Given the description of an element on the screen output the (x, y) to click on. 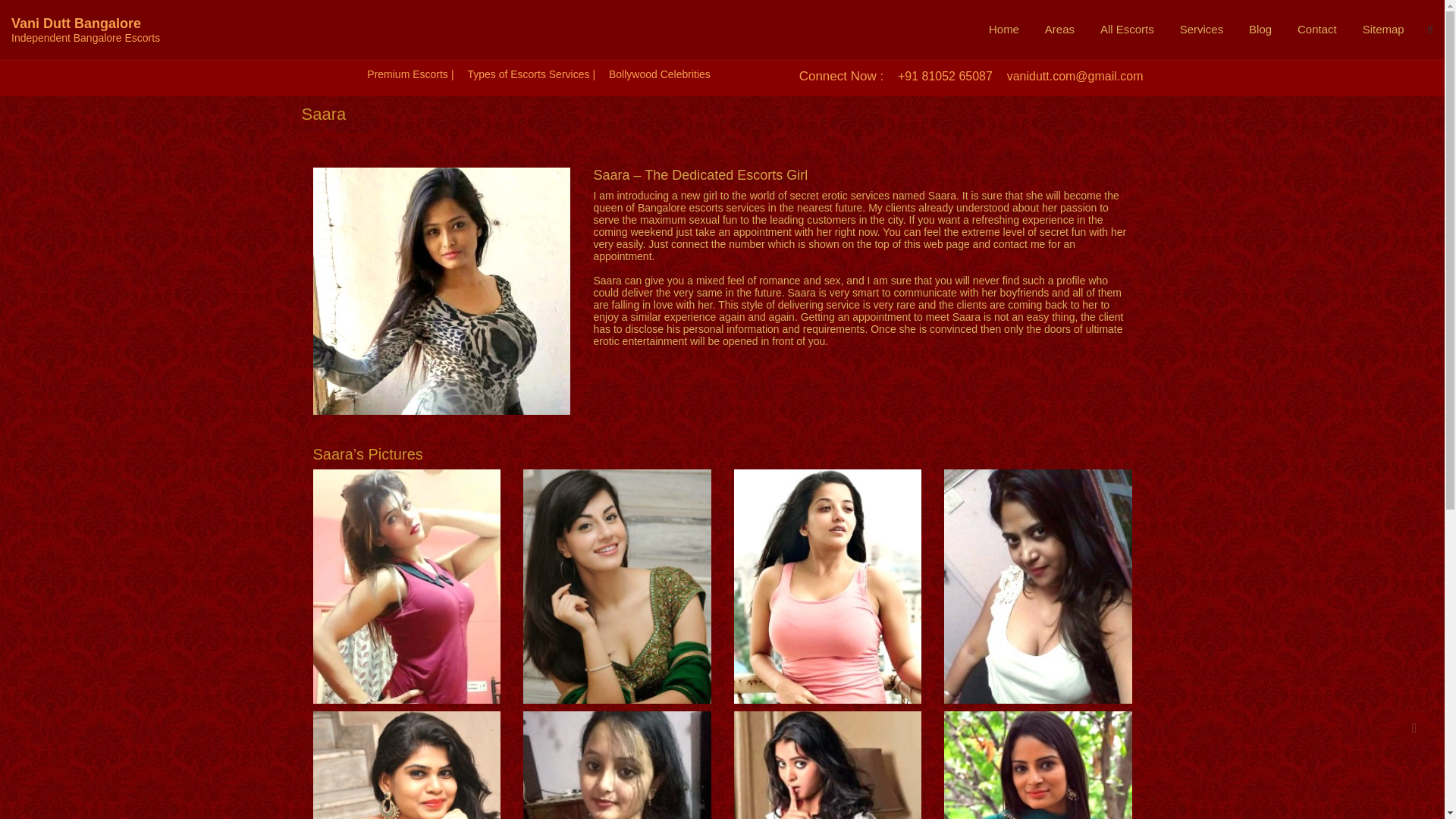
Types of Escorts Services (528, 73)
Premium Escorts (407, 73)
Vani Dutt Bangalore (76, 22)
Services (1201, 29)
All Escorts (1127, 29)
Areas (1059, 29)
Contact (1316, 29)
Bollywood Celebrities (659, 73)
Home (1003, 29)
Bangalore escorts (680, 207)
